Given the description of an element on the screen output the (x, y) to click on. 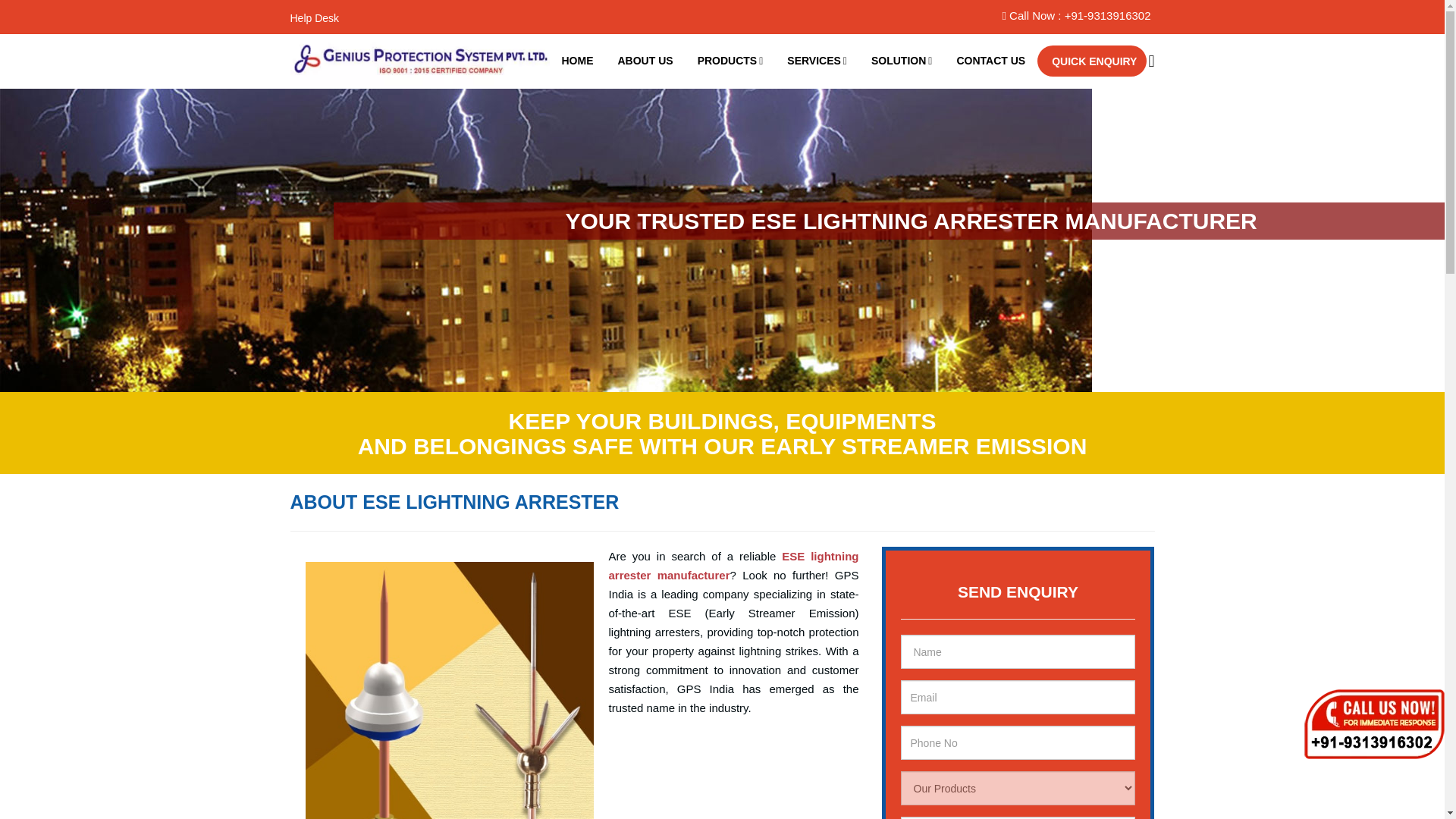
HOME (576, 61)
PRODUCTS (730, 61)
ABOUT US (644, 61)
Help Desk (314, 18)
SOLUTION (901, 61)
CONTACT US (989, 61)
QUICK ENQUIRY (1091, 60)
SERVICES (816, 61)
